Given the description of an element on the screen output the (x, y) to click on. 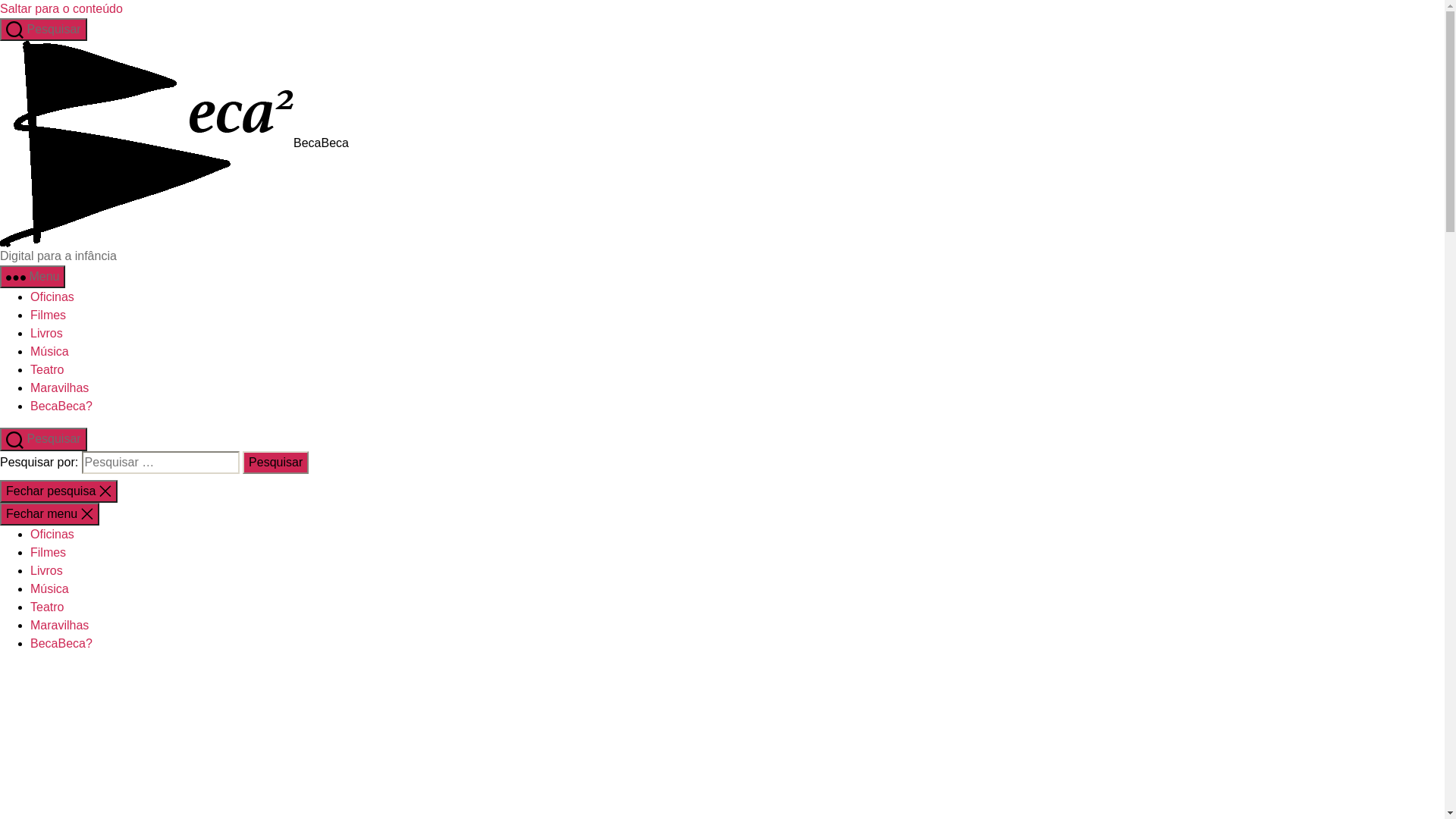
Oficinas Element type: text (52, 533)
Livros Element type: text (46, 332)
Fechar menu Element type: text (49, 513)
Pesquisar Element type: text (275, 462)
Fechar pesquisa Element type: text (58, 491)
Filmes Element type: text (47, 314)
Oficinas Element type: text (52, 296)
Pesquisar Element type: text (43, 29)
BecaBeca? Element type: text (61, 405)
Maravilhas Element type: text (59, 387)
Livros Element type: text (46, 570)
BecaBeca? Element type: text (61, 643)
Menu Element type: text (32, 276)
Filmes Element type: text (47, 552)
Pesquisar Element type: text (43, 438)
Teatro Element type: text (46, 369)
Maravilhas Element type: text (59, 624)
Teatro Element type: text (46, 606)
